Given the description of an element on the screen output the (x, y) to click on. 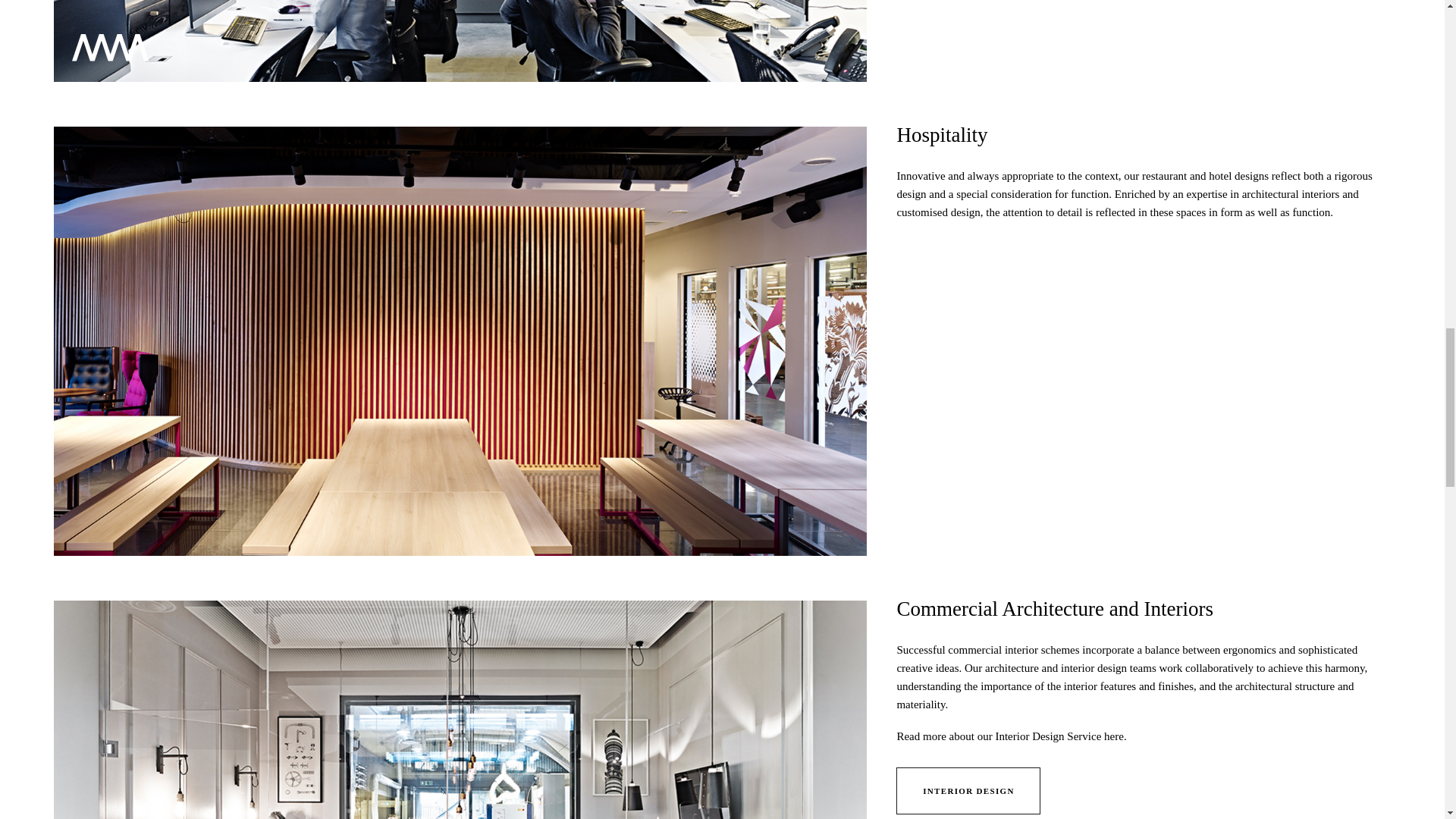
INTERIOR DESIGN (968, 790)
